Given the description of an element on the screen output the (x, y) to click on. 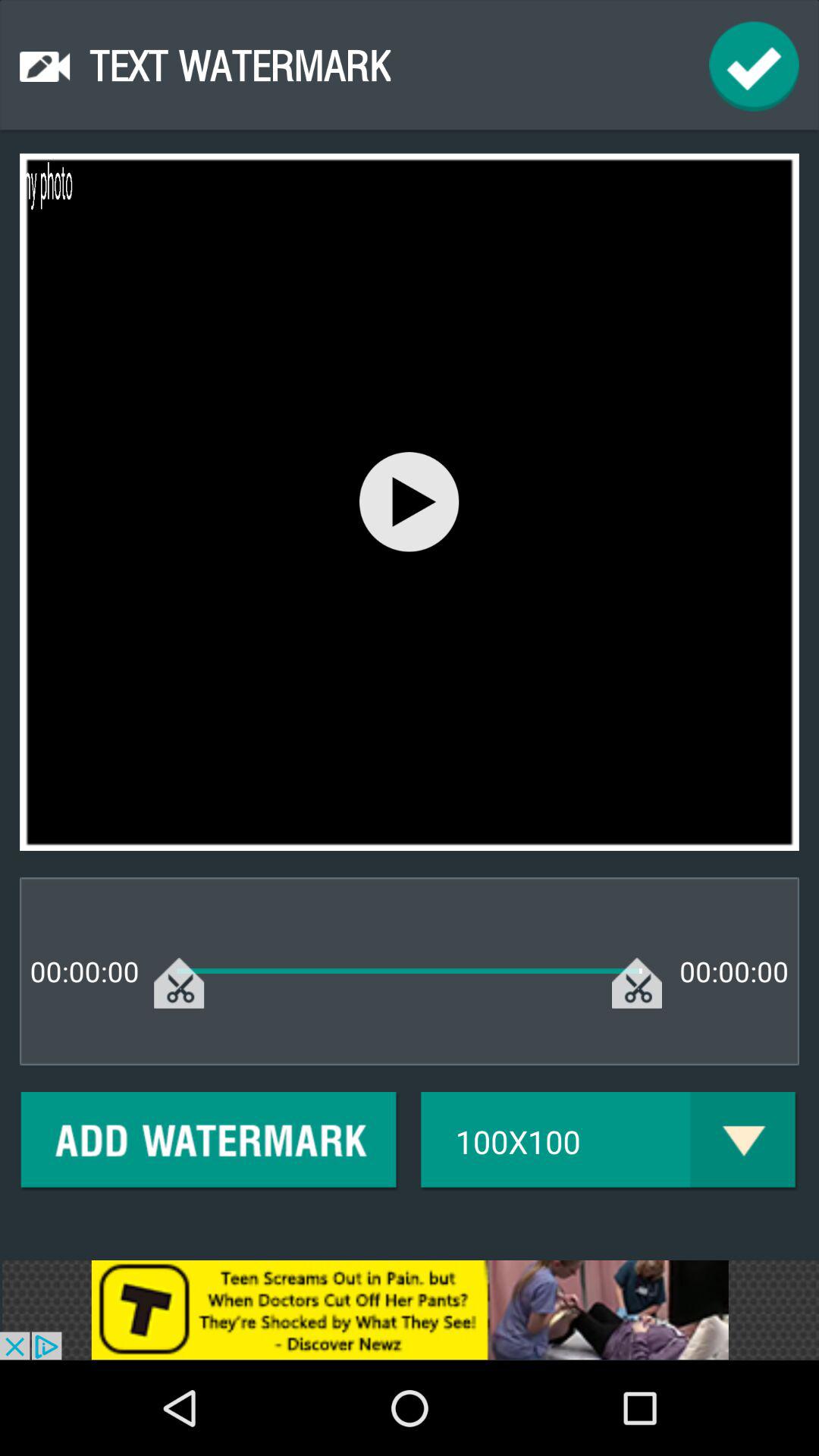
accept item (754, 66)
